Given the description of an element on the screen output the (x, y) to click on. 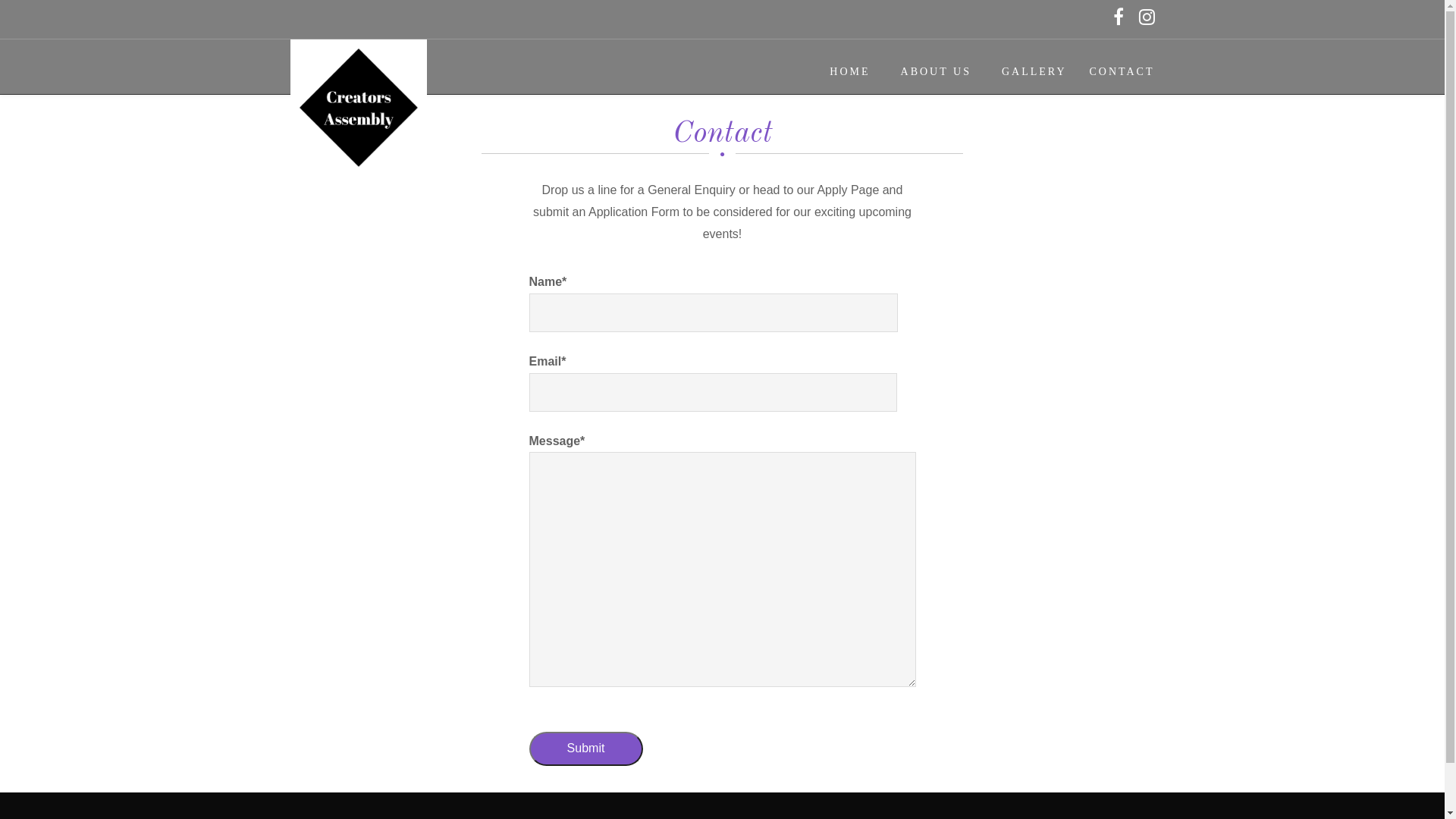
HOME Element type: text (841, 69)
CONTACT Element type: text (1113, 69)
ABOUT US Element type: text (928, 69)
Submit Element type: text (586, 748)
GALLERY Element type: text (1026, 69)
